Given the description of an element on the screen output the (x, y) to click on. 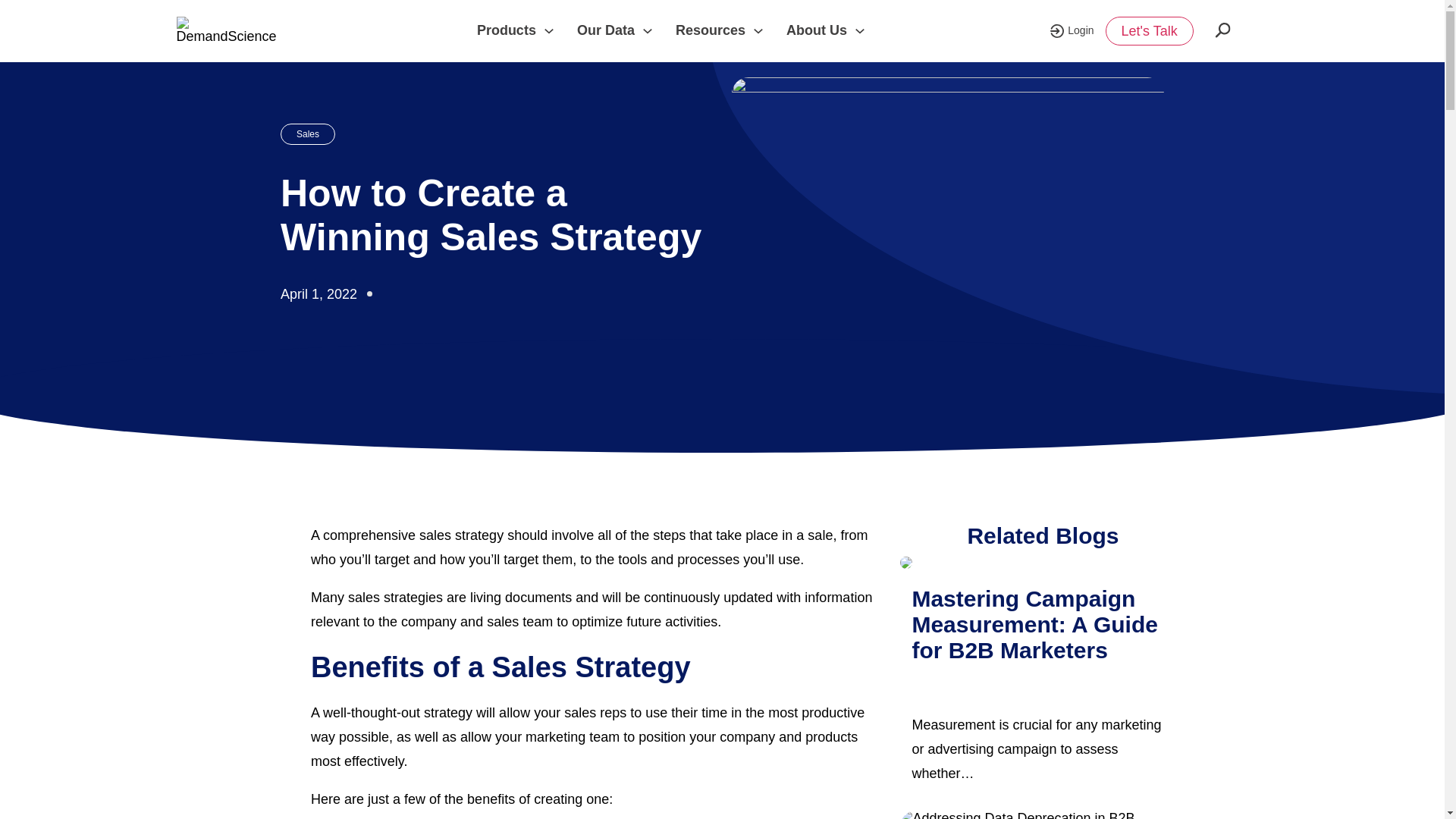
About Us (816, 30)
Mastering Campaign Measurement: A Guide for B2B Marketers (1042, 564)
Sales (307, 133)
Mastering Campaign Measurement: A Guide for B2B Marketers (1034, 624)
Resources (710, 30)
Products (506, 30)
Our Data (605, 30)
